Given the description of an element on the screen output the (x, y) to click on. 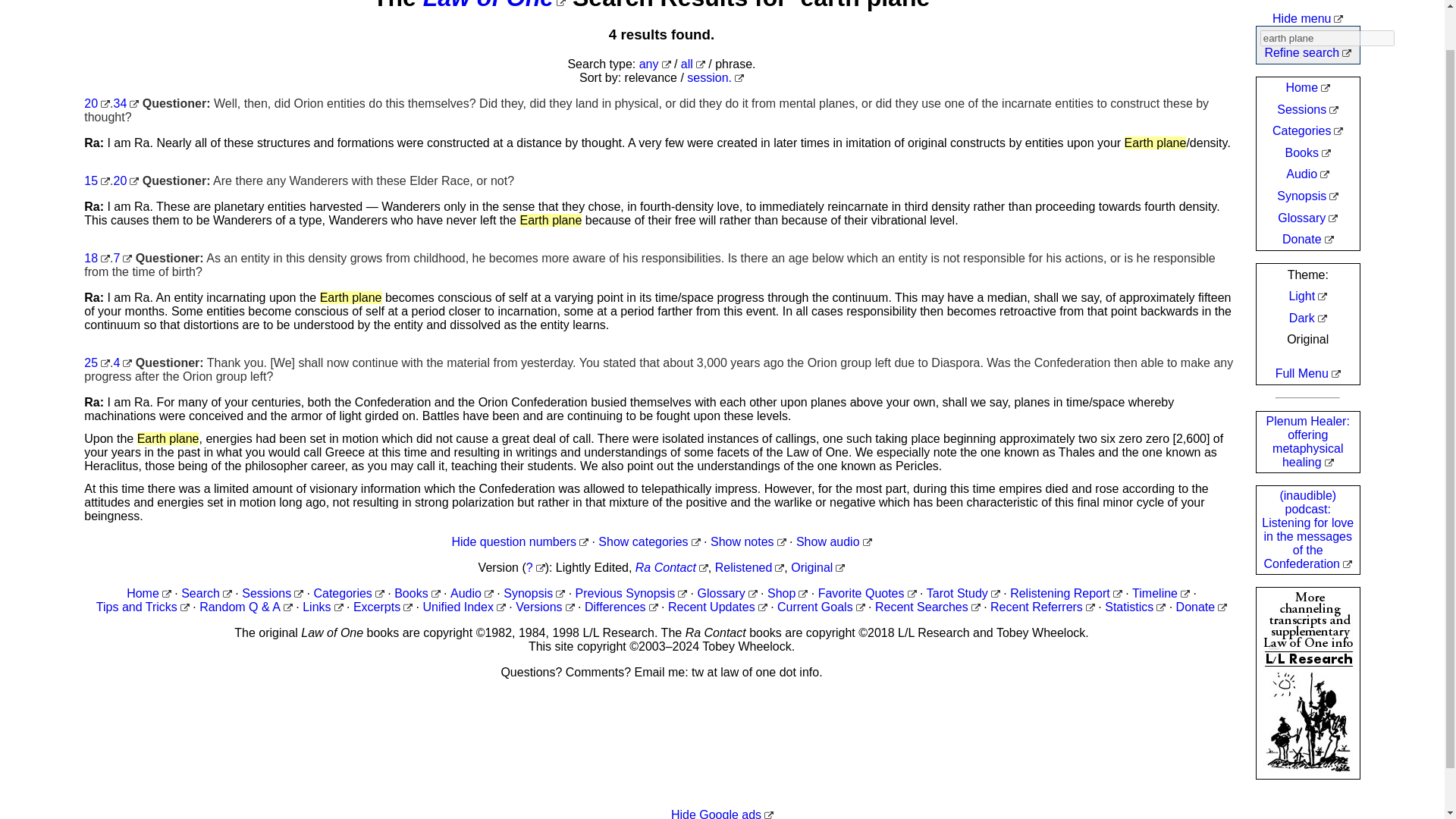
Show audio (834, 541)
Original (817, 567)
Hide question numbers (519, 541)
? (534, 567)
20 (97, 103)
15 (97, 180)
any (655, 63)
25 (97, 362)
20 (126, 180)
7 (122, 257)
Sessions (271, 593)
Ra Contact (670, 567)
Show categories (649, 541)
Search (205, 593)
4 (122, 362)
